Given the description of an element on the screen output the (x, y) to click on. 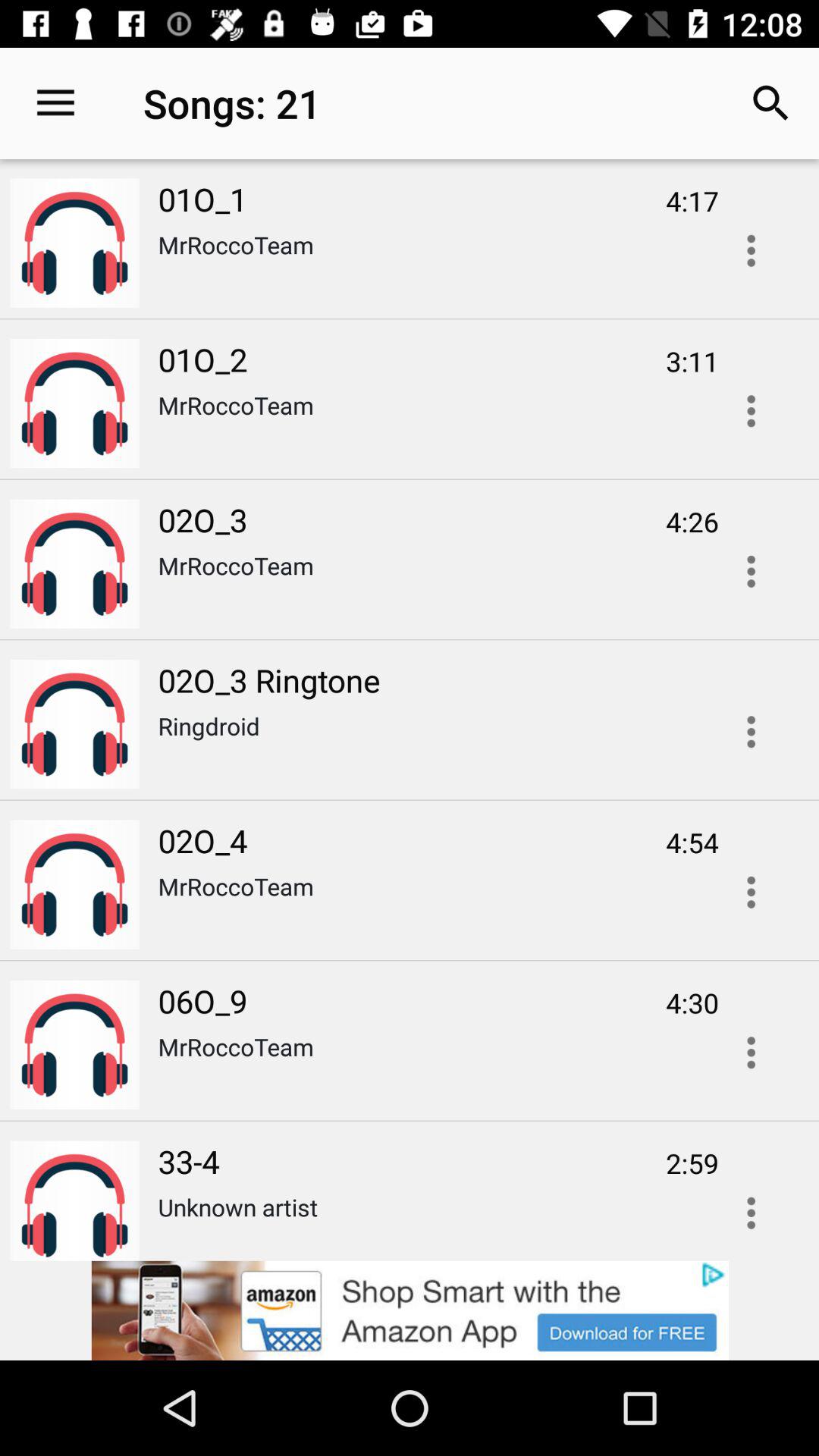
click for more information (750, 891)
